Given the description of an element on the screen output the (x, y) to click on. 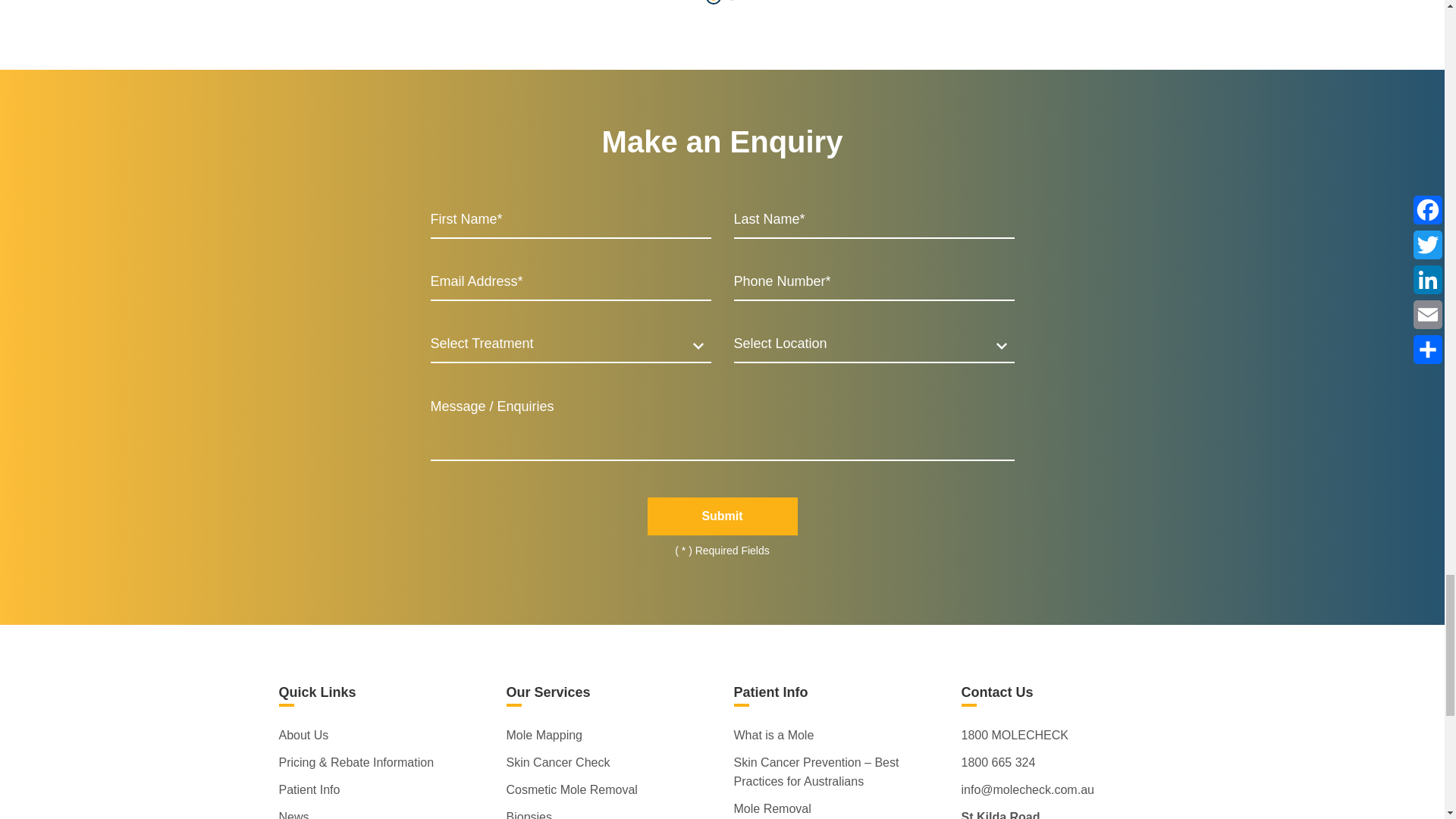
Submit (722, 516)
